Given the description of an element on the screen output the (x, y) to click on. 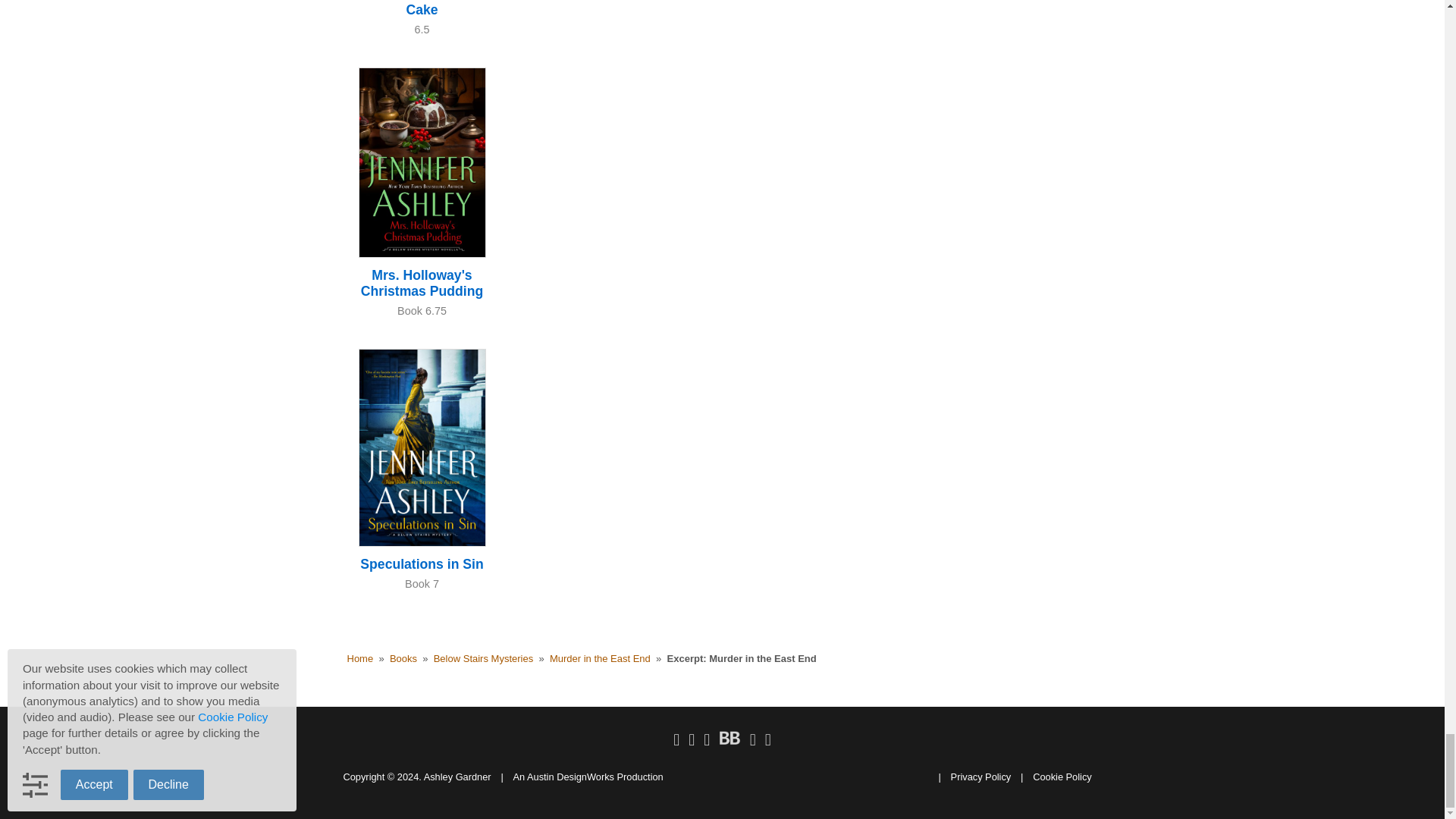
Books (403, 658)
Follow on Twitter (691, 739)
Below Stairs Mysteries (482, 658)
Follow on Pinterest (706, 739)
Murder in the East End (600, 658)
Follow on Facebook (675, 739)
Follow on Goodreads (752, 739)
Subscribe to RSS (768, 739)
